Given the description of an element on the screen output the (x, y) to click on. 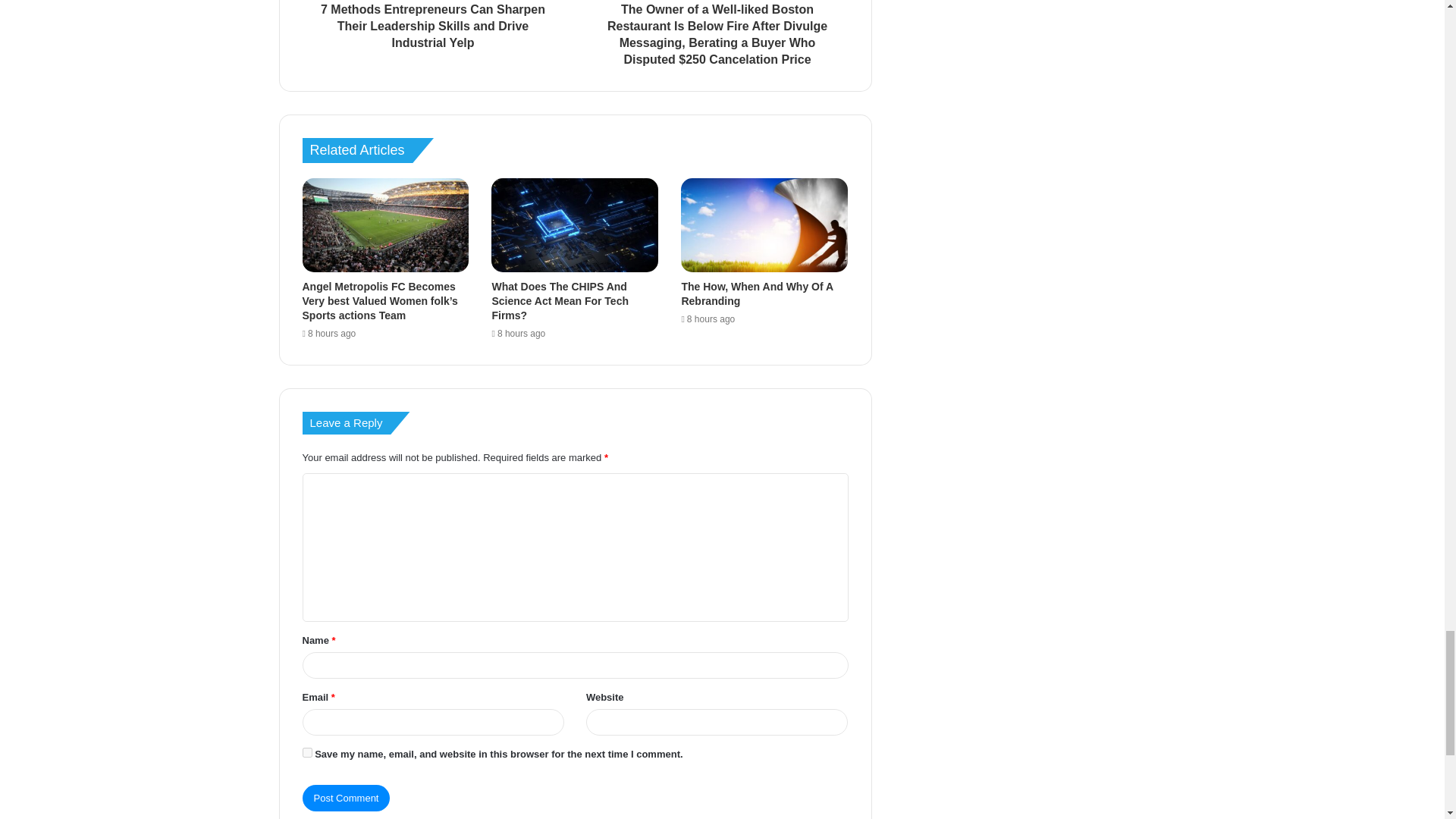
yes (306, 752)
Post Comment (345, 797)
